Given the description of an element on the screen output the (x, y) to click on. 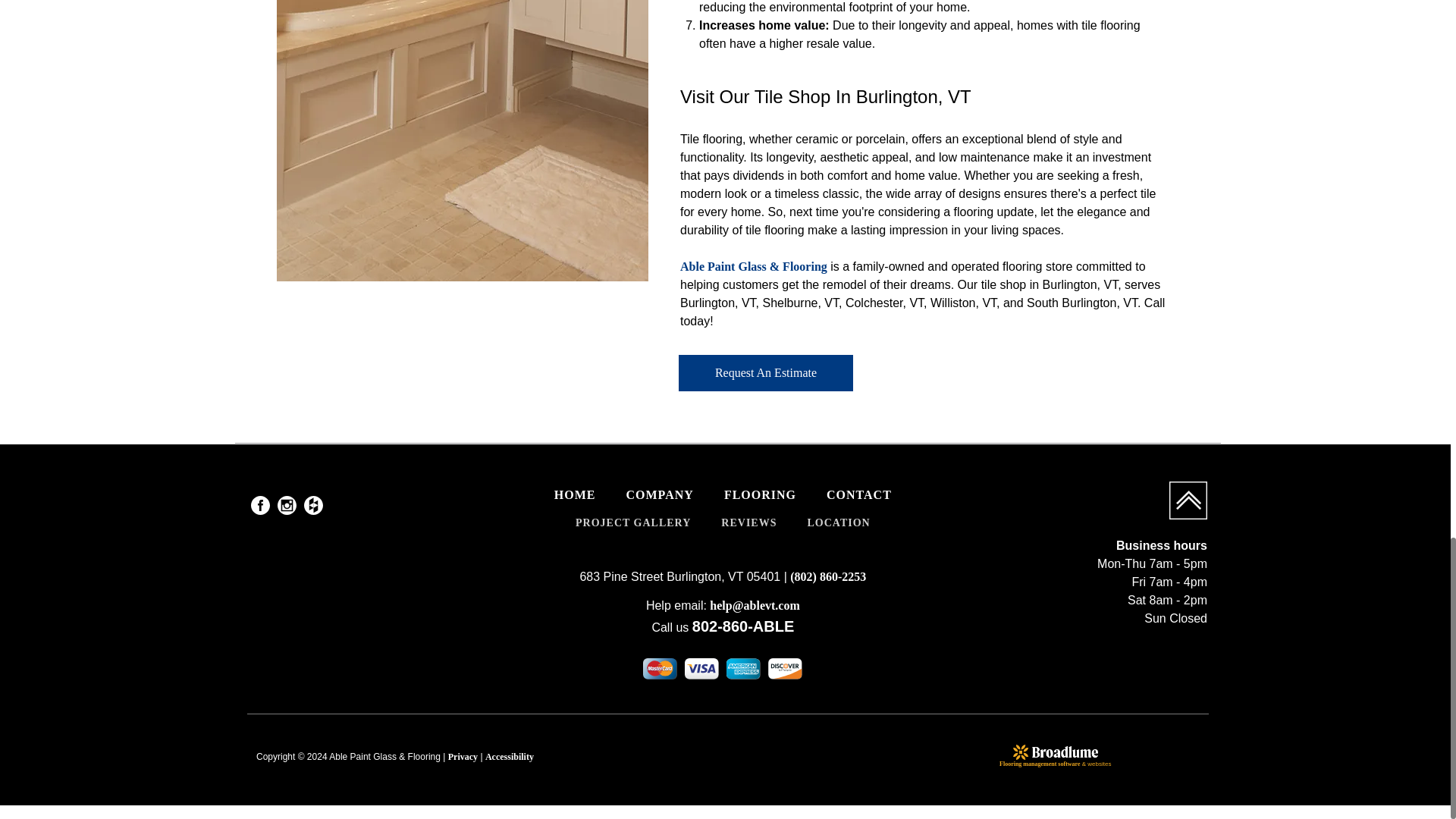
Instagram (287, 505)
Facebook (259, 505)
Privacy policy (462, 756)
Houzz (313, 505)
Accessibility (509, 756)
Back to top (1187, 500)
